Given the description of an element on the screen output the (x, y) to click on. 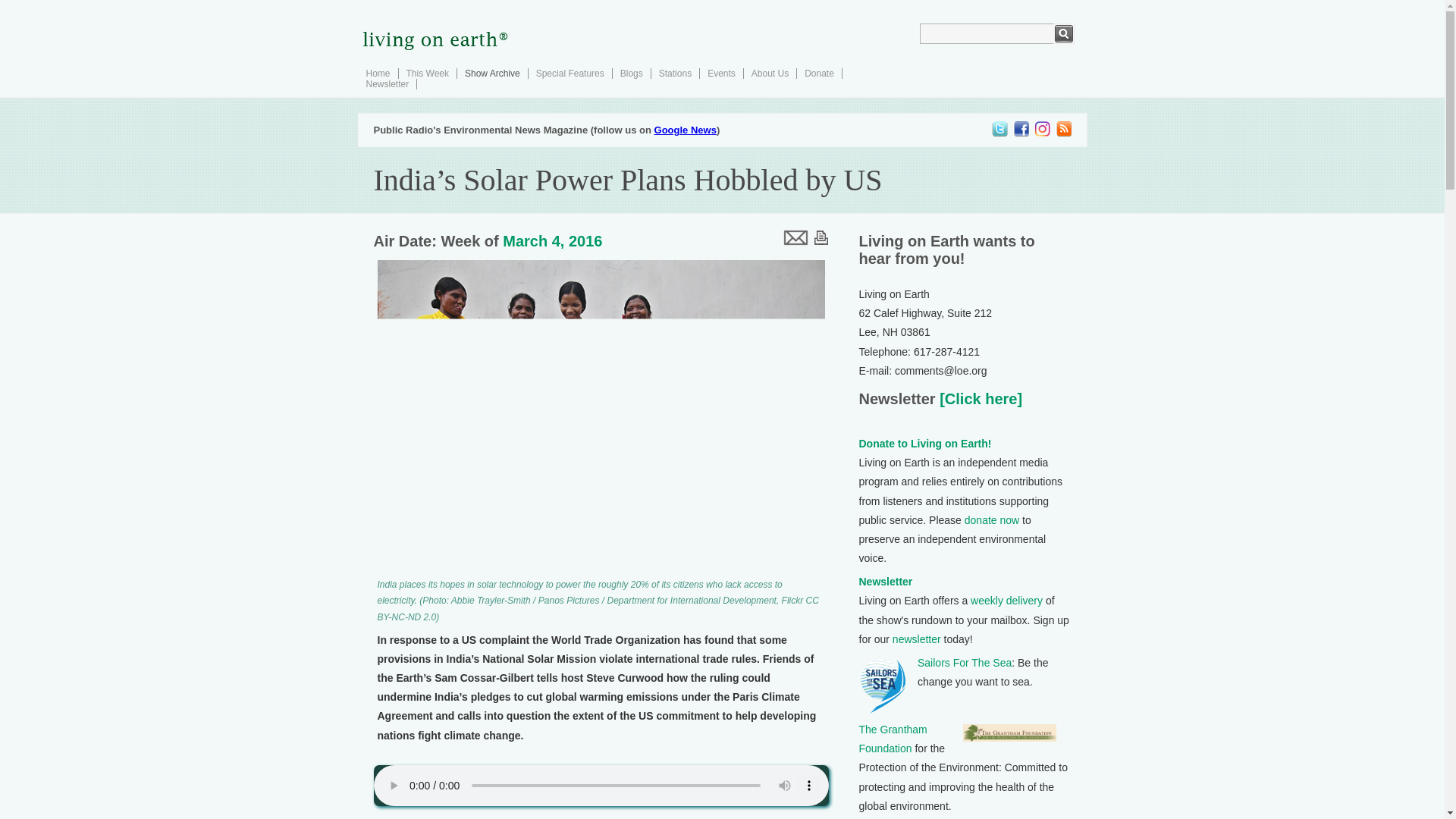
Google News (684, 129)
Donate (819, 72)
print (819, 236)
This Week (427, 72)
Donate to Living on Earth! (925, 443)
Events (721, 72)
About Us (770, 72)
Newsletter (885, 581)
March 4, 2016 (552, 240)
Home (377, 72)
Special Features (569, 72)
Newsletter (387, 83)
Blogs (631, 72)
Stations (675, 72)
donate now (991, 520)
